Given the description of an element on the screen output the (x, y) to click on. 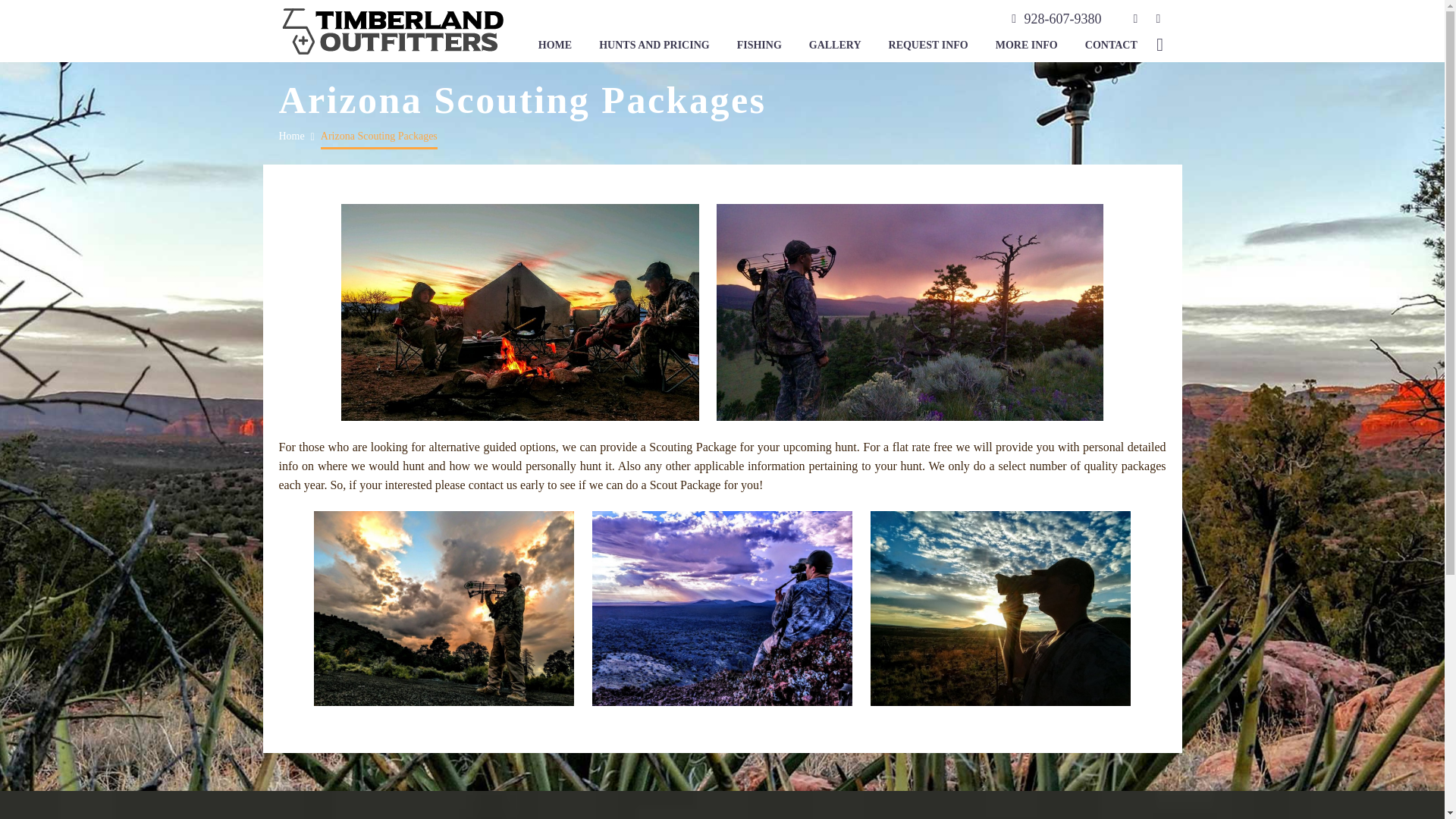
HOME (555, 45)
928-607-9380 (1061, 18)
CONTACT (1111, 45)
HUNTS AND PRICING (654, 45)
youtube (1158, 19)
FISHING (759, 45)
MORE INFO (1026, 45)
REQUEST INFO (928, 45)
GALLERY (834, 45)
facebook (1135, 19)
